Given the description of an element on the screen output the (x, y) to click on. 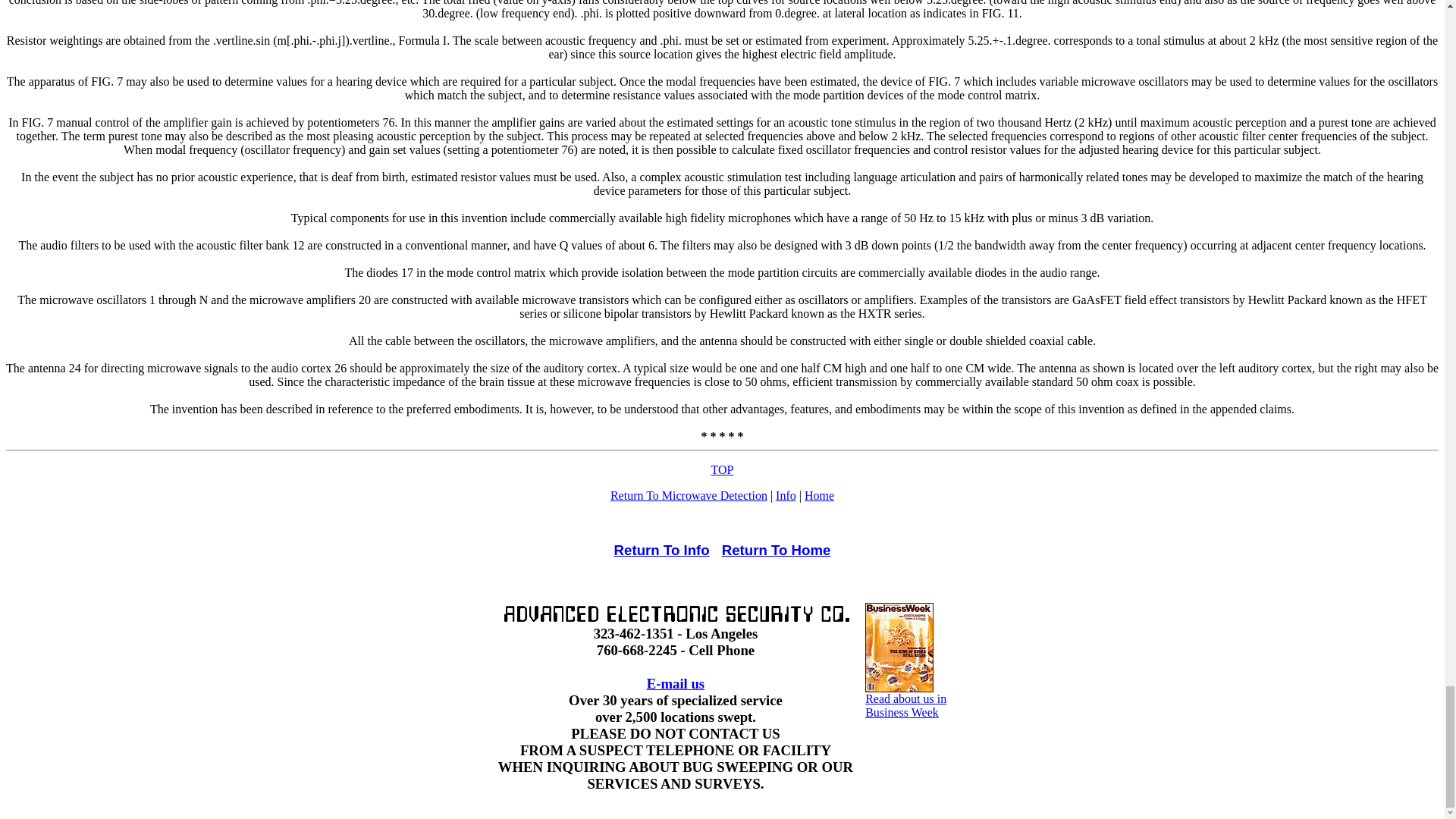
TOP (722, 469)
Home (905, 700)
Return To Info (819, 495)
E-mail us (662, 550)
Info (675, 683)
Return To Home (786, 495)
Return To Microwave Detection (776, 550)
